Given the description of an element on the screen output the (x, y) to click on. 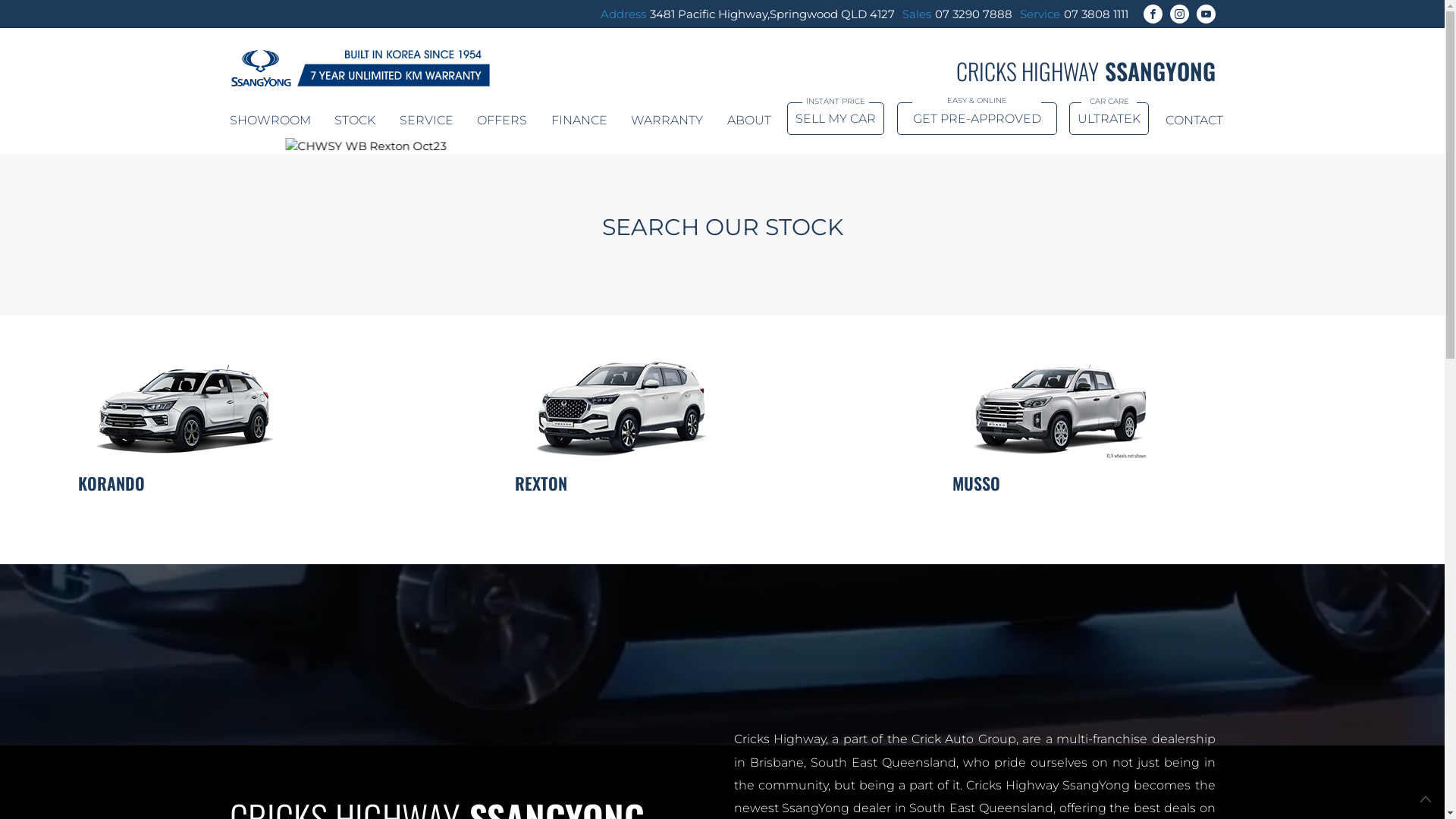
07 3808 1111 Element type: text (1095, 13)
STOCK Element type: text (354, 120)
SHOWROOM Element type: text (269, 120)
SELL MY CAR Element type: text (835, 118)
3481 Pacific Highway,Springwood QLD 4127 Element type: text (771, 13)
ABOUT Element type: text (748, 120)
ULTRATEK Element type: text (1108, 118)
MUSSO Element type: text (1159, 368)
OFFERS Element type: text (501, 120)
WARRANTY Element type: text (666, 120)
REXTON Element type: text (721, 368)
SERVICE Element type: text (425, 120)
CONTACT Element type: text (1189, 120)
FINANCE Element type: text (578, 120)
GET PRE-APPROVED Element type: text (976, 118)
KORANDO Element type: text (284, 422)
07 3290 7888 Element type: text (972, 13)
